Given the description of an element on the screen output the (x, y) to click on. 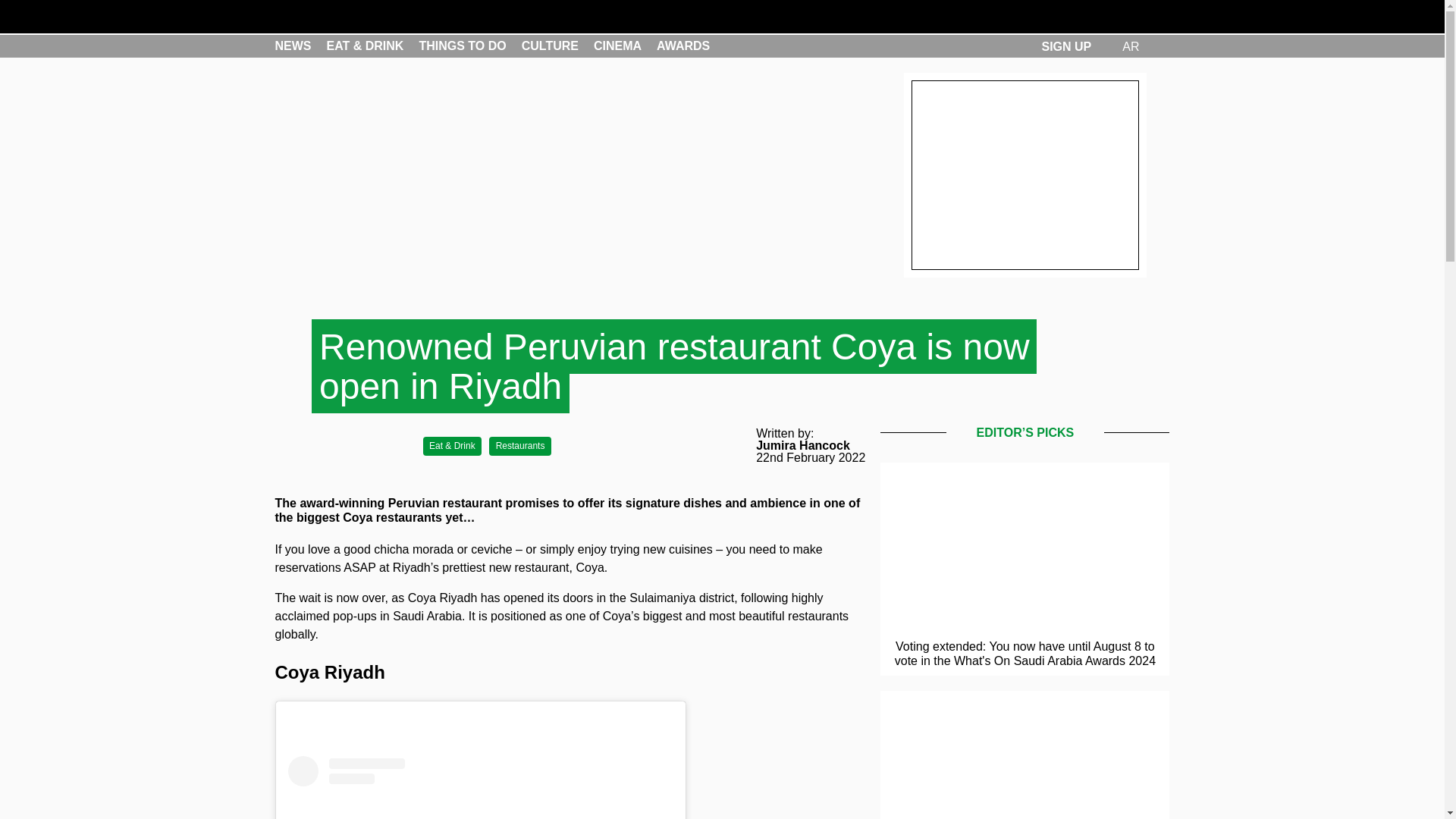
SIGN UP (1065, 45)
CULTURE (549, 45)
AWARDS (683, 45)
CINEMA (618, 45)
THINGS TO DO (462, 45)
NEWS (293, 45)
